Given the description of an element on the screen output the (x, y) to click on. 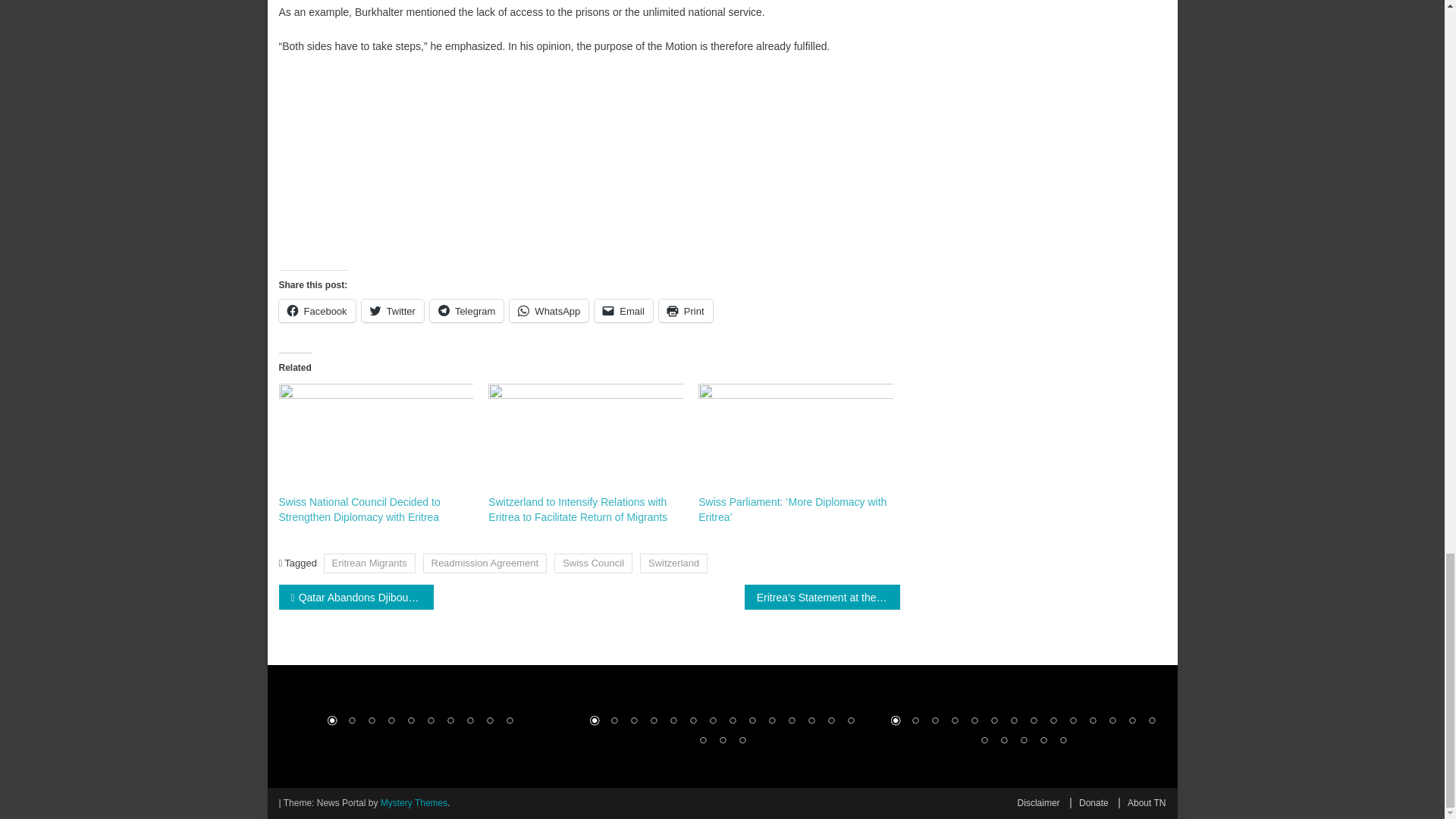
Telegram (466, 310)
Click to share on Telegram (466, 310)
Click to print (686, 310)
Click to share on Twitter (392, 310)
Email (623, 310)
Print (686, 310)
WhatsApp (548, 310)
